Given the description of an element on the screen output the (x, y) to click on. 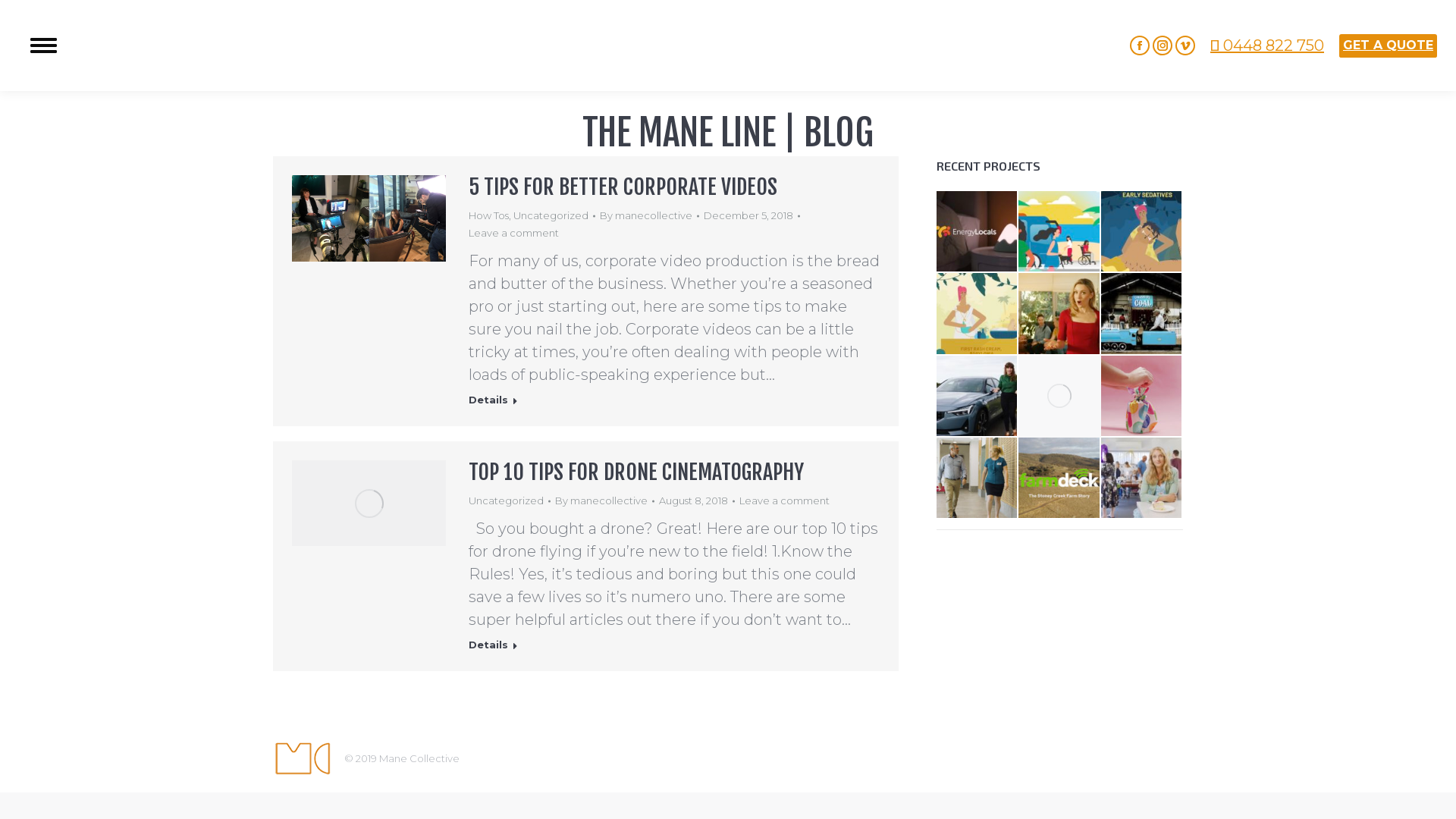
Instagram page opens in new window Element type: text (1162, 45)
December 5, 2018 Element type: text (751, 215)
Leave a comment Element type: text (513, 232)
August 8, 2018 Element type: text (696, 500)
Greenpeace | Fleet Launch Element type: hover (977, 396)
5 TIPS FOR BETTER CORPORATE VIDEOS Element type: text (622, 186)
How Tos Element type: text (488, 215)
Greenpeace | Too Big to Hide Element type: hover (1142, 313)
Details Element type: text (492, 646)
Chemist2U Element type: hover (1142, 232)
OutcomeX | Case Study Element type: hover (1059, 478)
Anywhere, Anytime | UNITED LEGAL Element type: hover (1059, 313)
Blog 2 500px Element type: hover (368, 218)
Chemist2U | 30sec Element type: hover (977, 313)
GET A QUOTE Element type: text (1388, 45)
Animation | Climate Council Element type: hover (1059, 232)
Vimeo page opens in new window Element type: text (1185, 45)
NIB | Tonic Health Element type: hover (1142, 478)
By manecollective Element type: text (604, 500)
TOP 10 TIPS FOR DRONE CINEMATOGRAPHY Element type: text (635, 471)
Uncategorized Element type: text (505, 500)
Energy Locals | About us Element type: hover (977, 232)
Leave a comment Element type: text (783, 500)
Hello Snowglobe Element type: hover (1142, 396)
Facebook page opens in new window Element type: text (1139, 45)
By manecollective Element type: text (648, 215)
Dharawal | People Places Stories | WCC Element type: hover (1059, 396)
Details Element type: text (492, 402)
Hospital in your Home Element type: hover (977, 478)
Uncategorized Element type: text (549, 215)
